Given the description of an element on the screen output the (x, y) to click on. 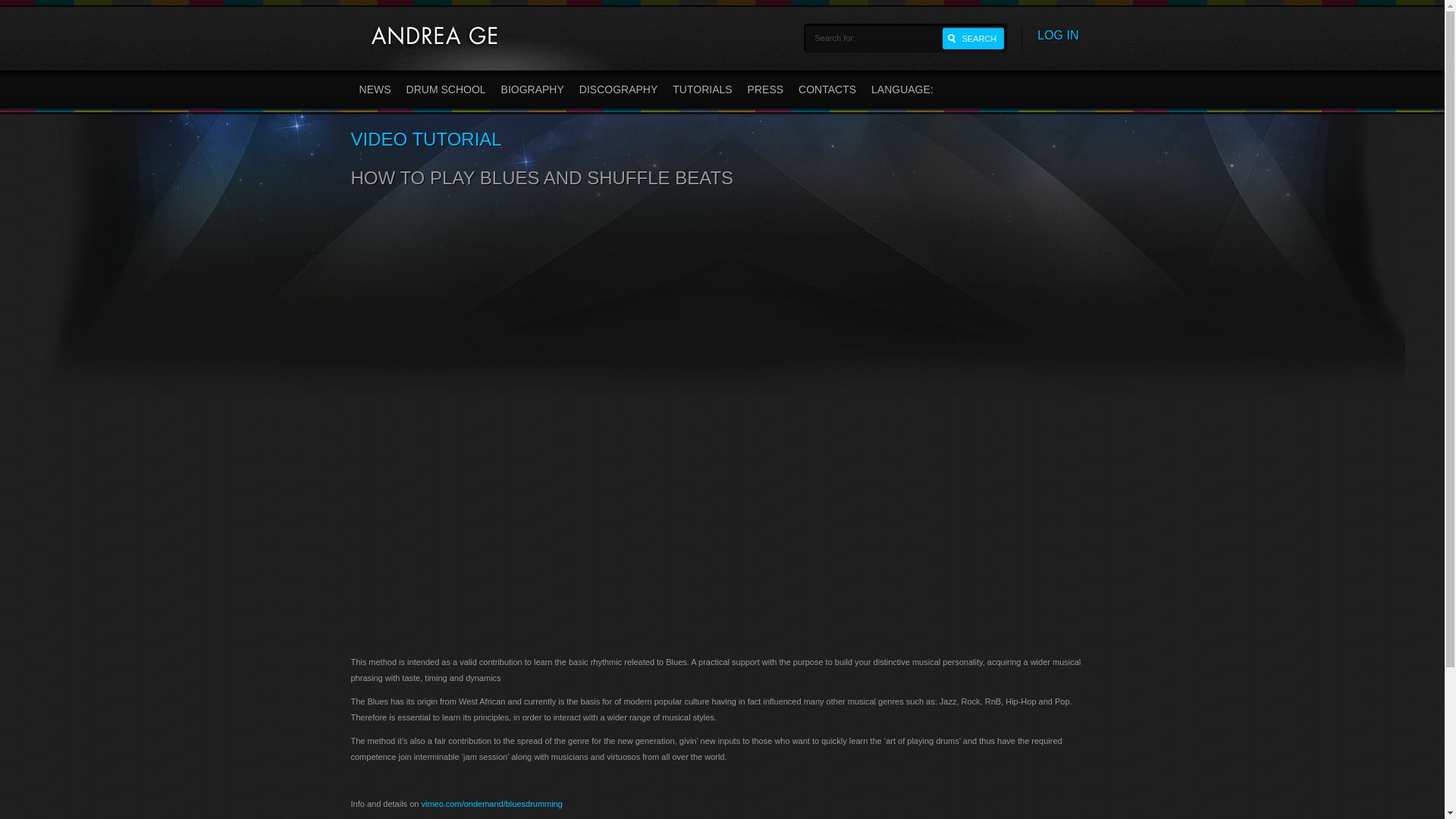
DISCOGRAPHY (618, 90)
SEARCH (973, 38)
PRESS (764, 90)
LANGUAGE:  (903, 90)
BIOGRAPHY (532, 90)
LOG IN (1057, 35)
NEWS (375, 90)
Search for: (872, 37)
English (903, 90)
TUTORIALS (702, 90)
